Given the description of an element on the screen output the (x, y) to click on. 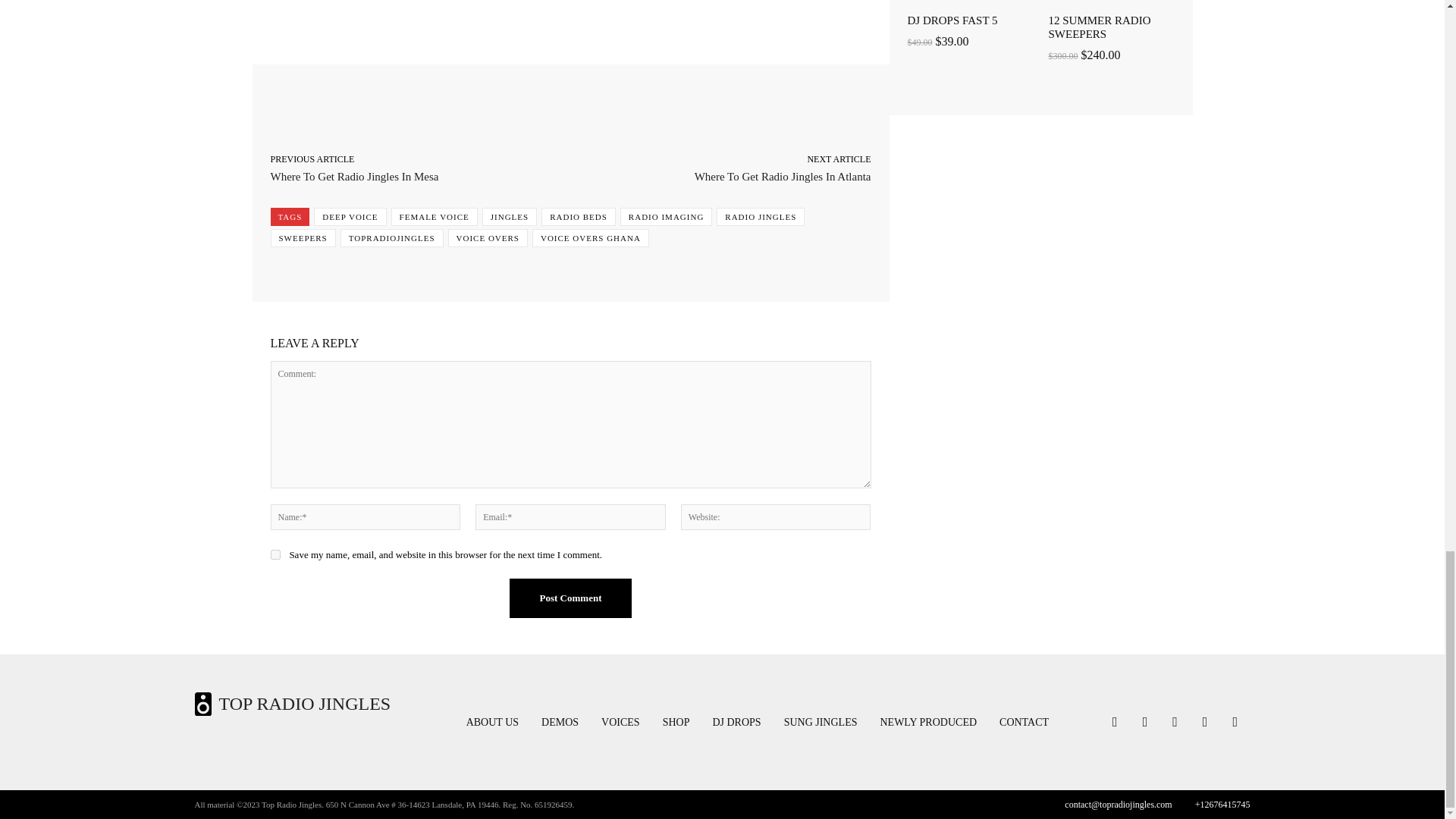
yes (274, 554)
Post Comment (570, 598)
